Given the description of an element on the screen output the (x, y) to click on. 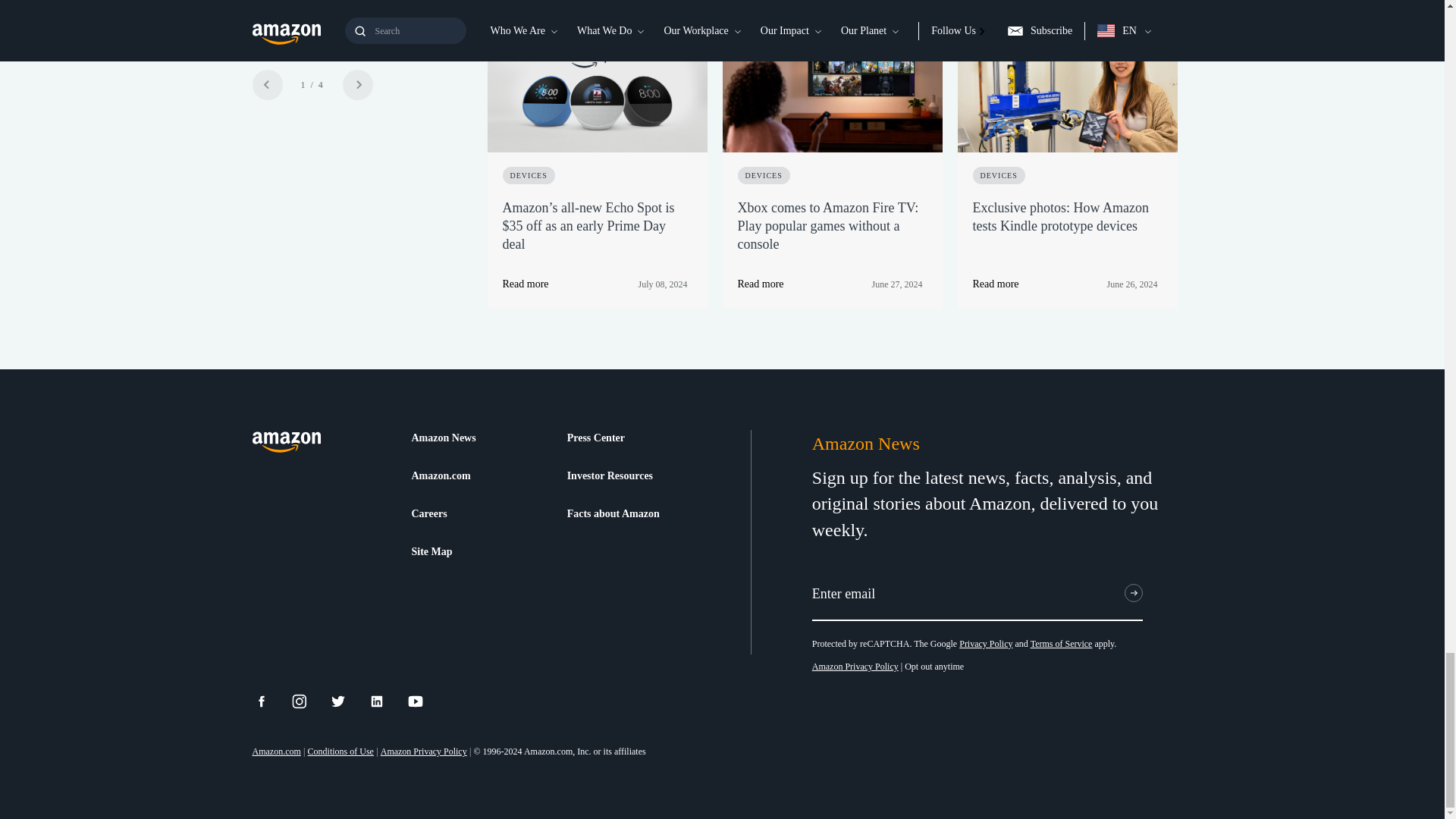
Twitter Share (347, 701)
Facebook Share (269, 701)
YouTube (425, 701)
LinkedIn Share (386, 701)
About Amazon Home (285, 442)
Instagram (308, 701)
